Given the description of an element on the screen output the (x, y) to click on. 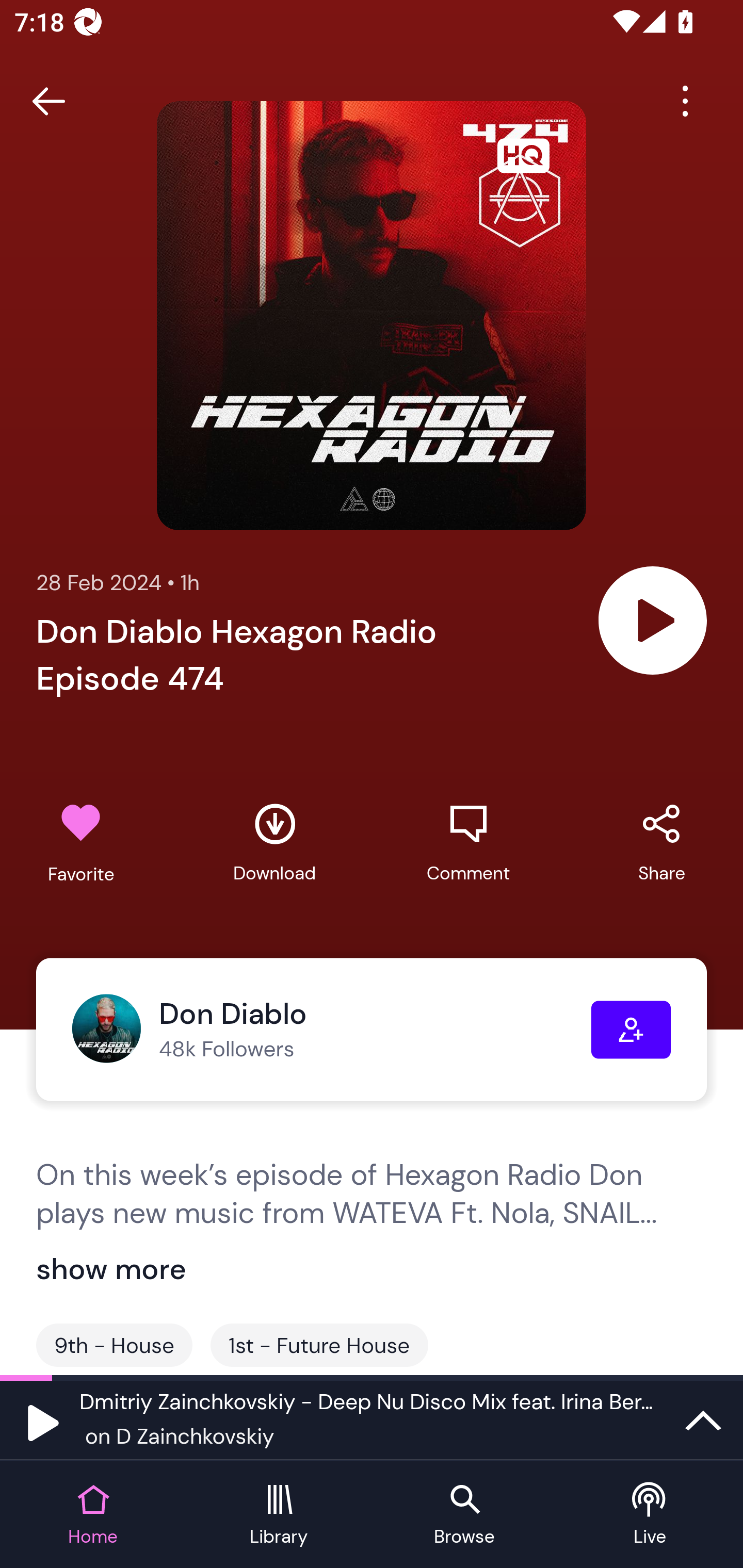
Favorite (81, 843)
Download (274, 843)
Comment (467, 843)
Share (661, 843)
Don Diablo, 48k Followers Don Diablo 48k Followers (331, 1029)
Follow (630, 1029)
9th - House (114, 1345)
1st - Future House (318, 1345)
Home tab Home (92, 1515)
Library tab Library (278, 1515)
Browse tab Browse (464, 1515)
Live tab Live (650, 1515)
